Given the description of an element on the screen output the (x, y) to click on. 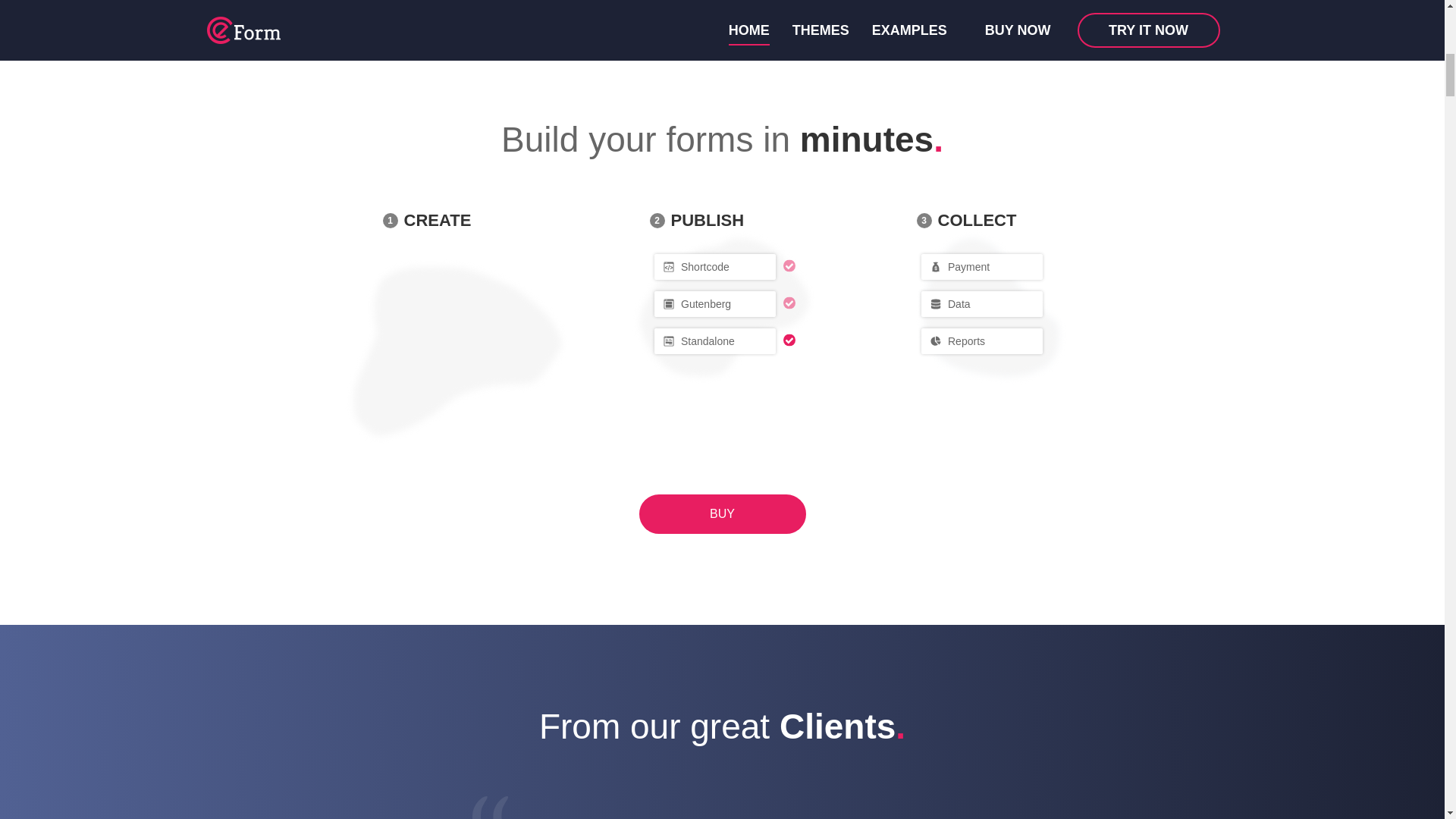
Shortcode (713, 266)
Reports (981, 340)
Data (981, 303)
Gutenberg (713, 303)
Standalone (713, 340)
BUY (722, 513)
Payment (981, 266)
